Given the description of an element on the screen output the (x, y) to click on. 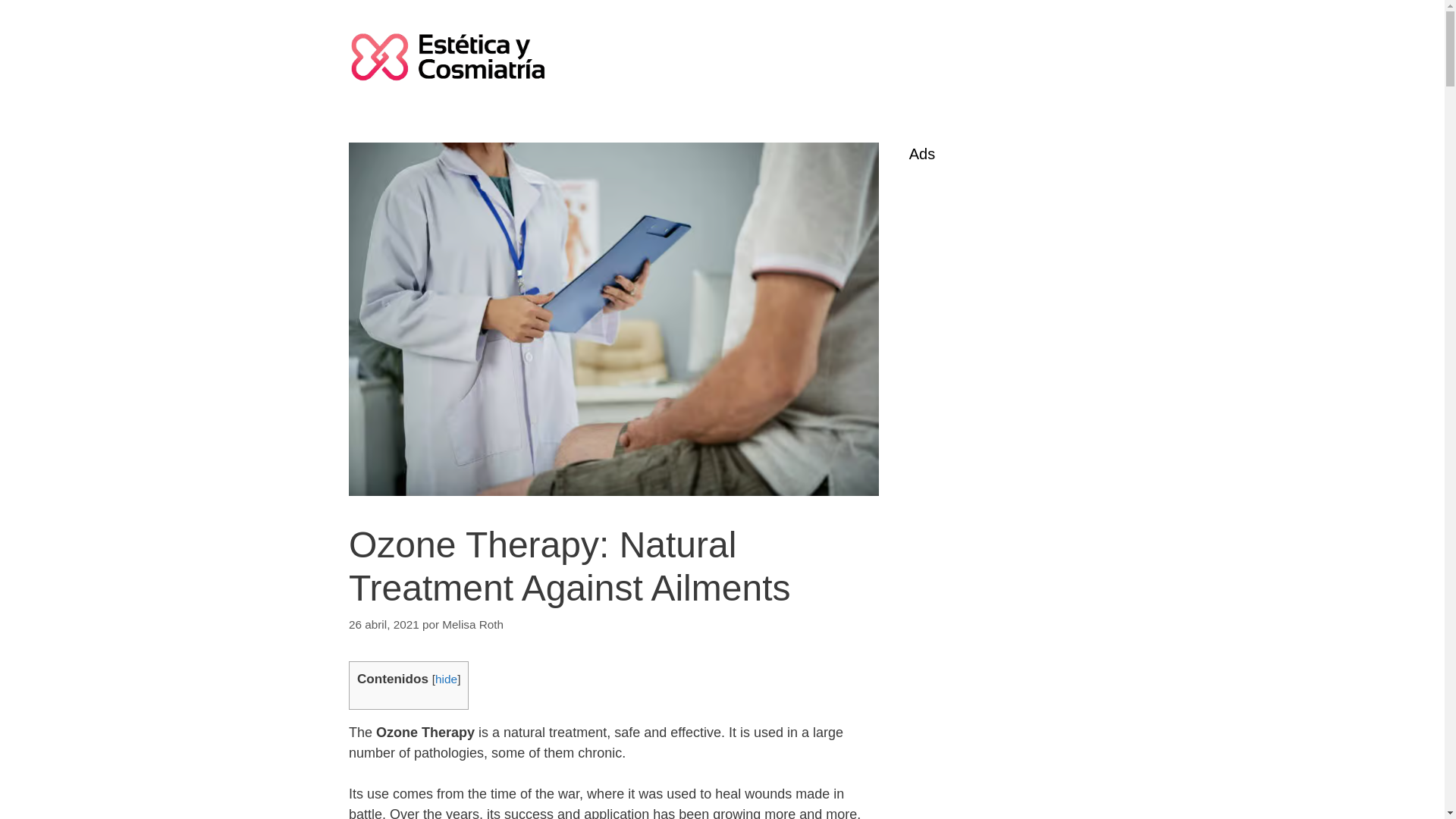
Melisa Roth (472, 624)
hide (446, 678)
Ver todas las entradas de Melisa Roth (472, 624)
